Given the description of an element on the screen output the (x, y) to click on. 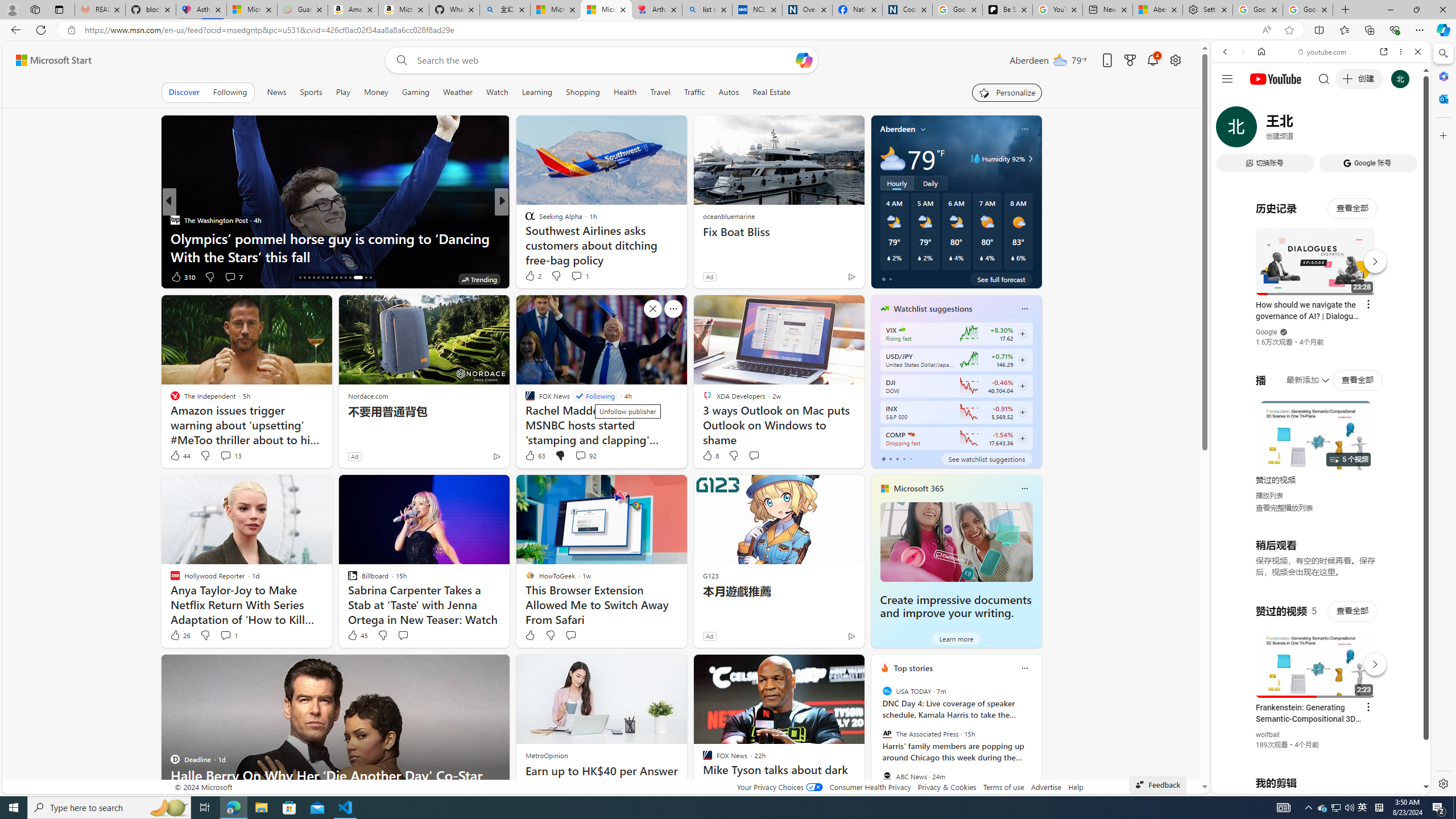
App bar (728, 29)
Gaming (415, 92)
Aberdeen, Hong Kong SAR hourly forecast | Microsoft Weather (1158, 9)
Global web icon (1232, 655)
News (276, 92)
Create impressive documents and improve your writing. (955, 541)
WEB   (1230, 130)
IMAGES (1262, 130)
